Given the description of an element on the screen output the (x, y) to click on. 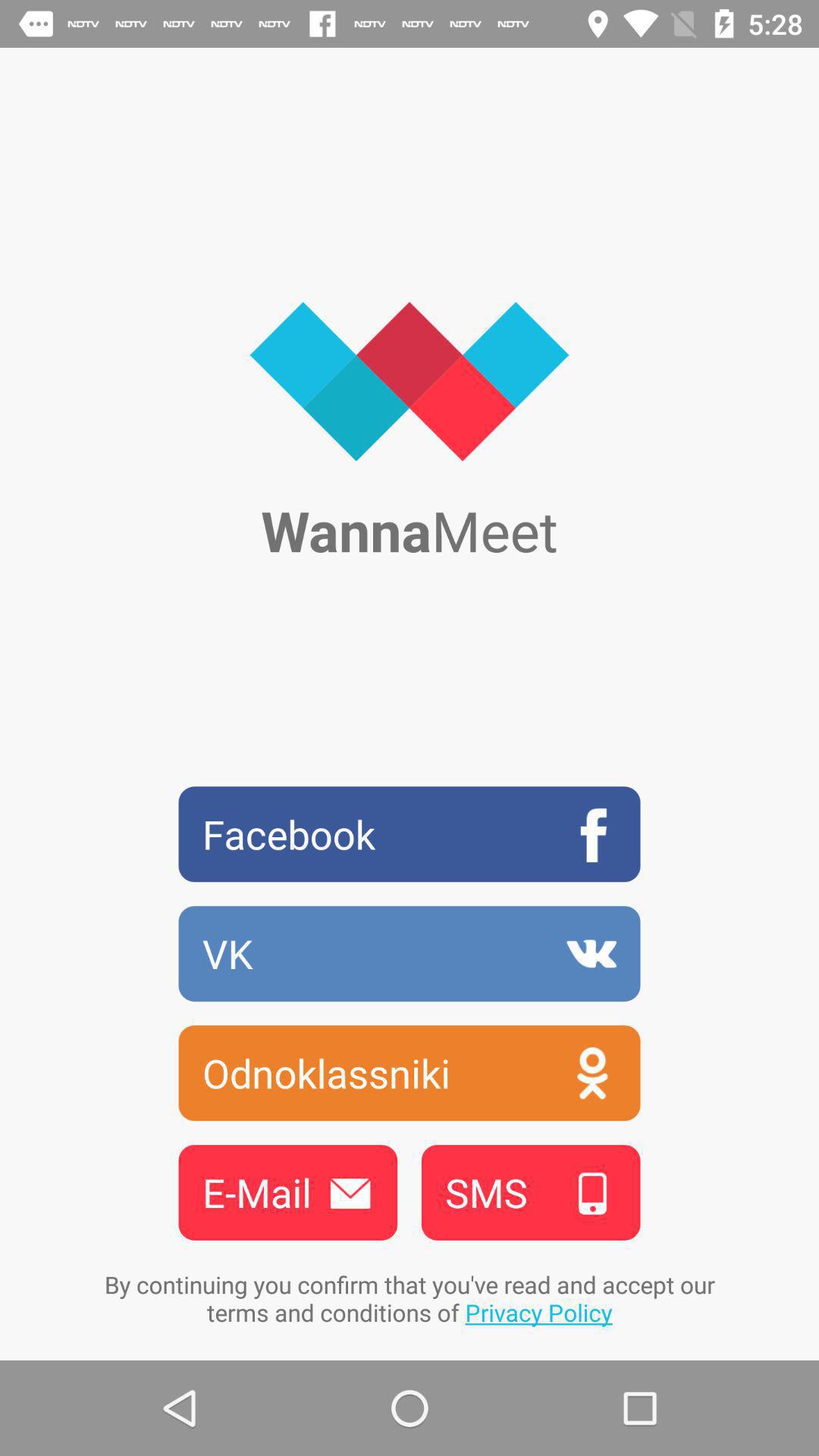
tap icon below e-mail (409, 1298)
